Given the description of an element on the screen output the (x, y) to click on. 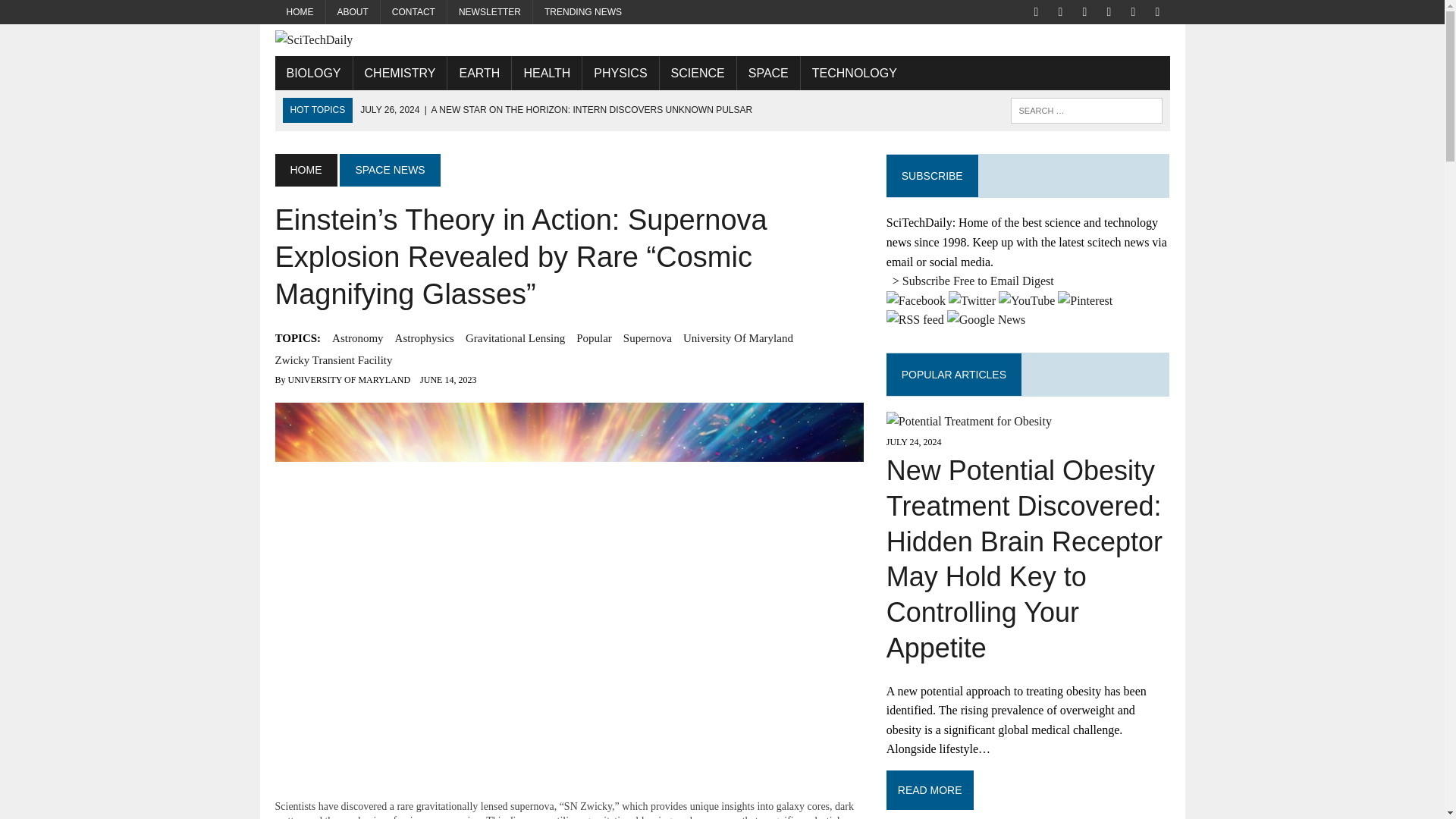
CHEMISTRY (399, 73)
TECHNOLOGY (854, 73)
HOME (299, 12)
A New Star on the Horizon: Intern Discovers Unknown Pulsar (555, 109)
Search (75, 14)
Popular (593, 338)
SCIENCE (697, 73)
Supernova (647, 338)
SPACE (767, 73)
Contact SciTechDaily.com (413, 12)
Zwicky Transient Facility (333, 360)
SciTechDaily Newsletter (489, 12)
About SciTechDaily (353, 12)
Astrophysics (424, 338)
SciTechDaily (722, 39)
